Given the description of an element on the screen output the (x, y) to click on. 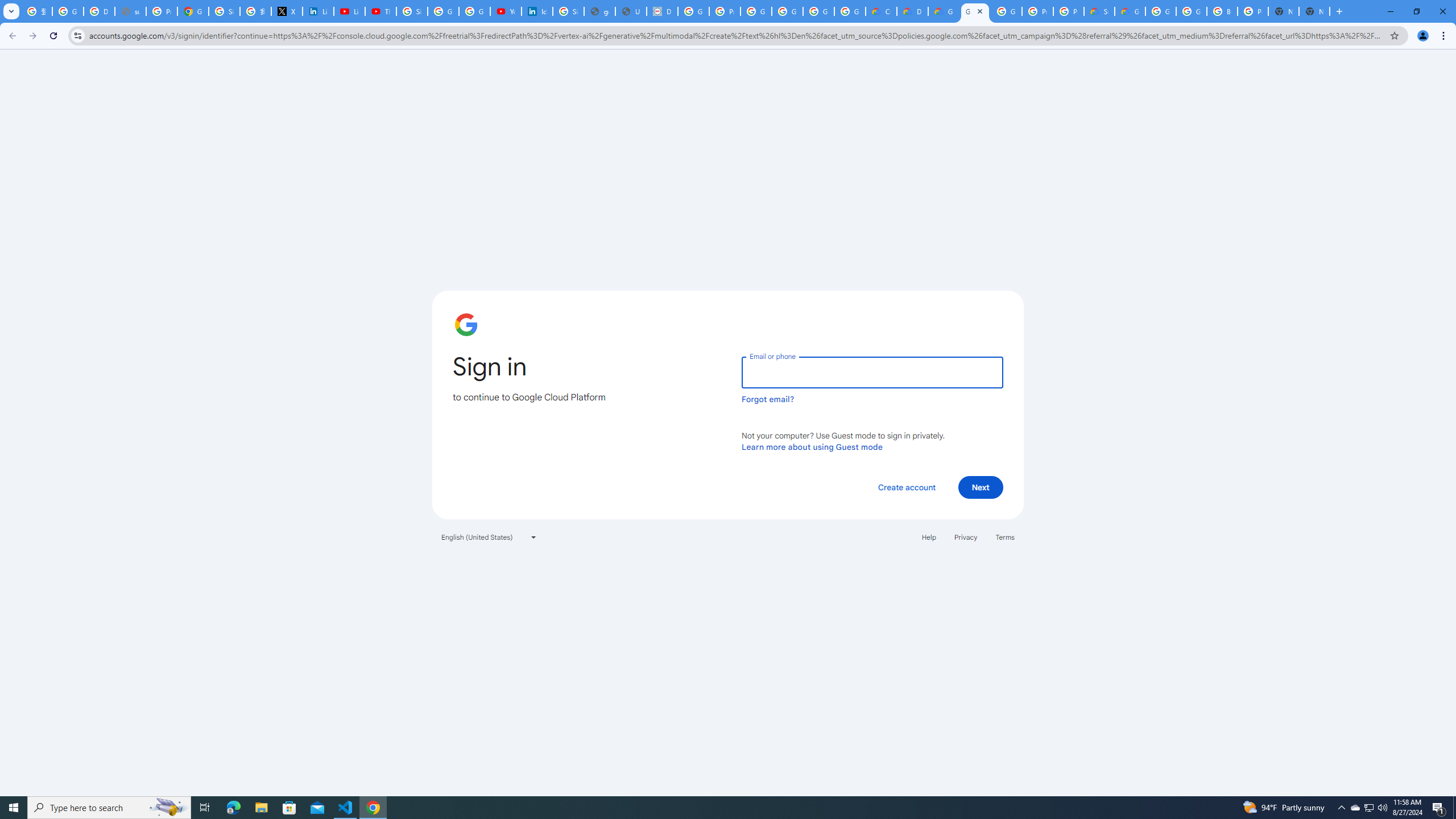
support.google.com - Network error (130, 11)
Learn more about using Guest mode (812, 446)
English (United States) (489, 536)
New Tab (1314, 11)
Google Workspace - Specific Terms (849, 11)
Terms (1005, 536)
Google Cloud Platform (1005, 11)
